Given the description of an element on the screen output the (x, y) to click on. 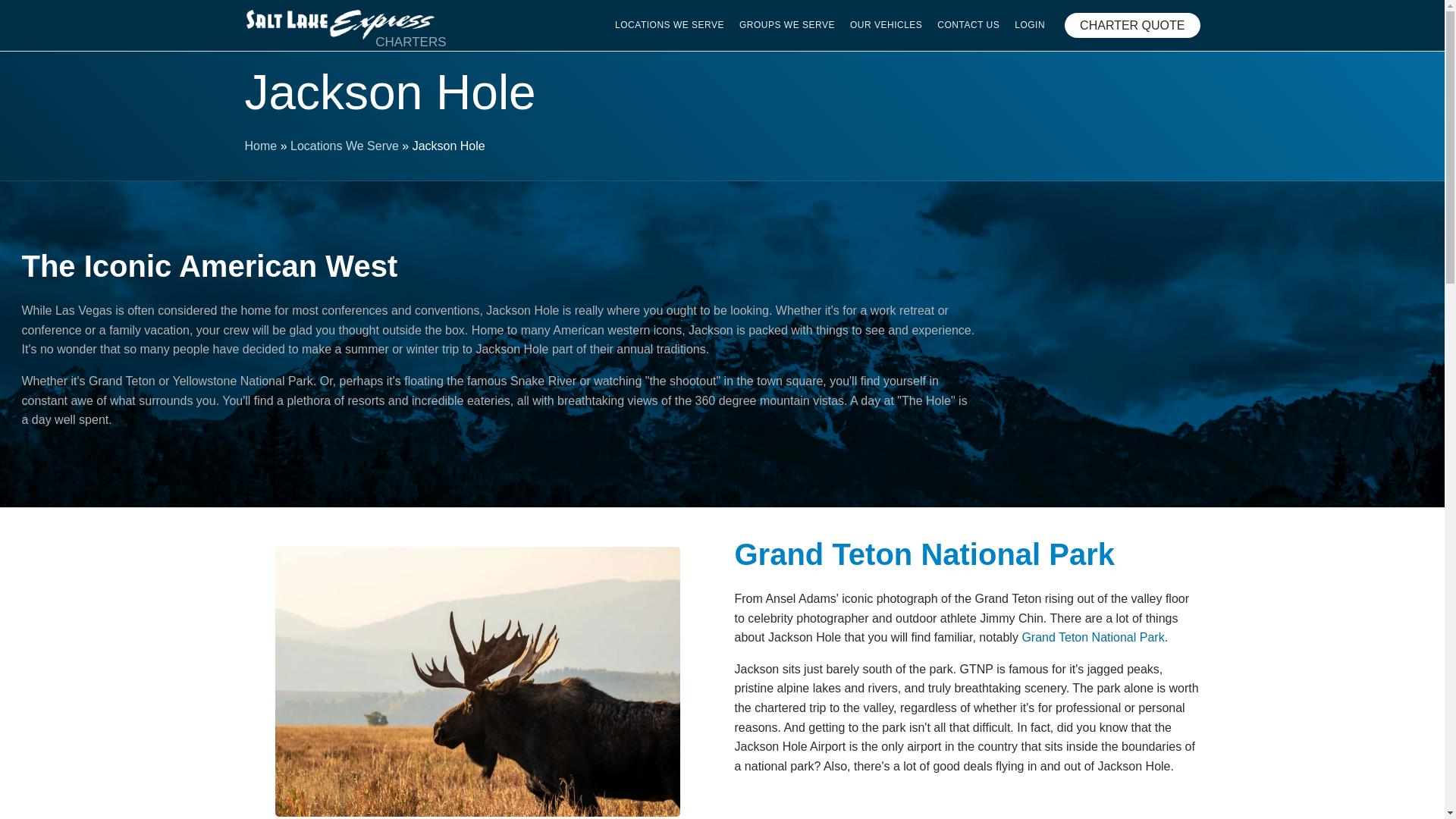
GROUPS WE SERVE (787, 25)
Grand Teton National Park (1092, 636)
Locations We Serve (343, 145)
CHARTER QUOTE (1131, 25)
OUR VEHICLES (886, 25)
CONTACT US (968, 25)
LOGIN (1029, 25)
Home (260, 145)
CHARTERS (338, 25)
LOCATIONS WE SERVE (669, 25)
